Given the description of an element on the screen output the (x, y) to click on. 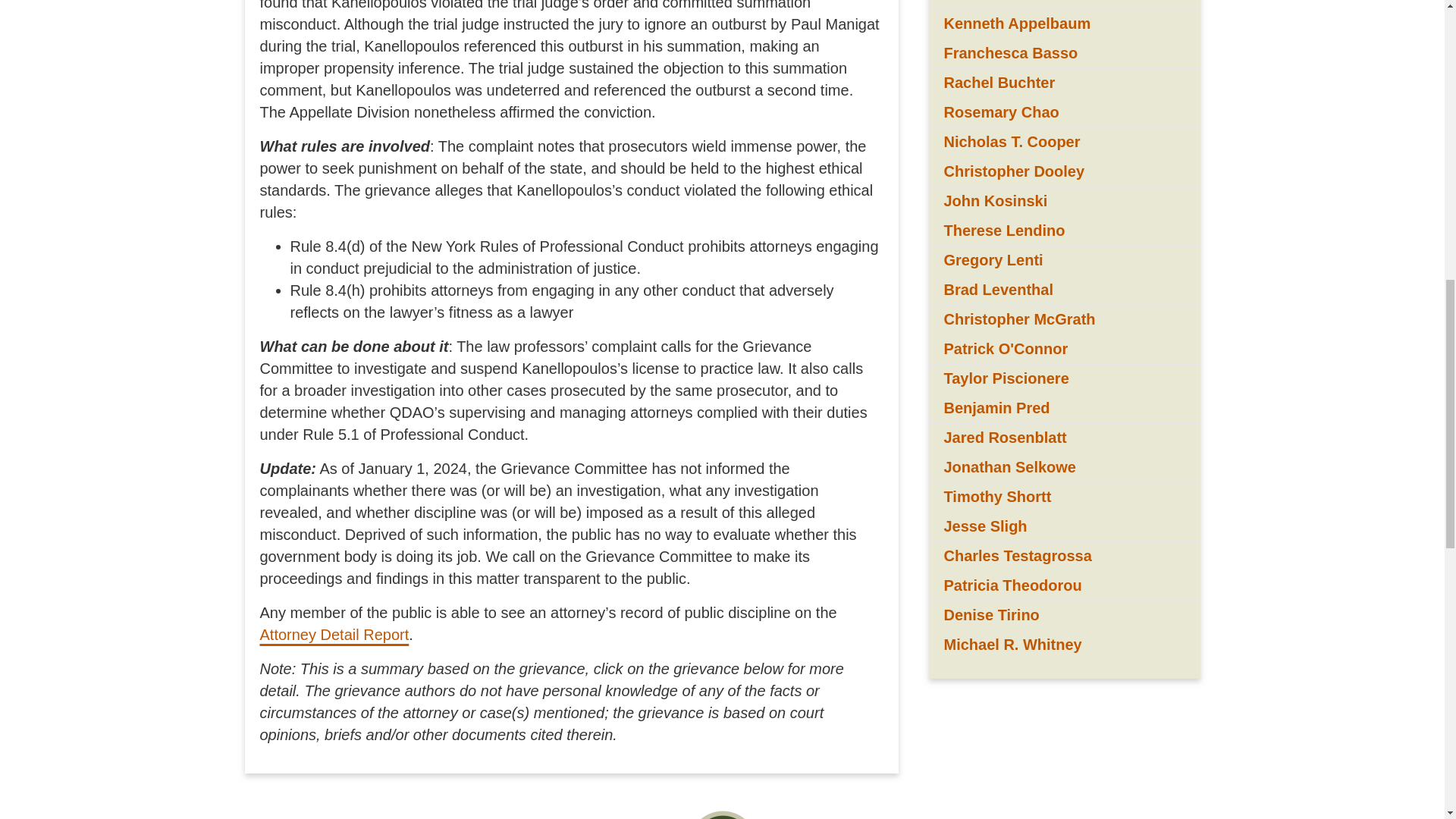
Kenneth Appelbaum (1016, 23)
Franchesca Basso (1010, 53)
Nicole Aloise (990, 1)
Rachel Buchter (998, 82)
Nicholas T. Cooper (1011, 141)
Rosemary Chao (1000, 112)
Christopher Dooley (1013, 170)
Attorney Detail Report (334, 634)
